Given the description of an element on the screen output the (x, y) to click on. 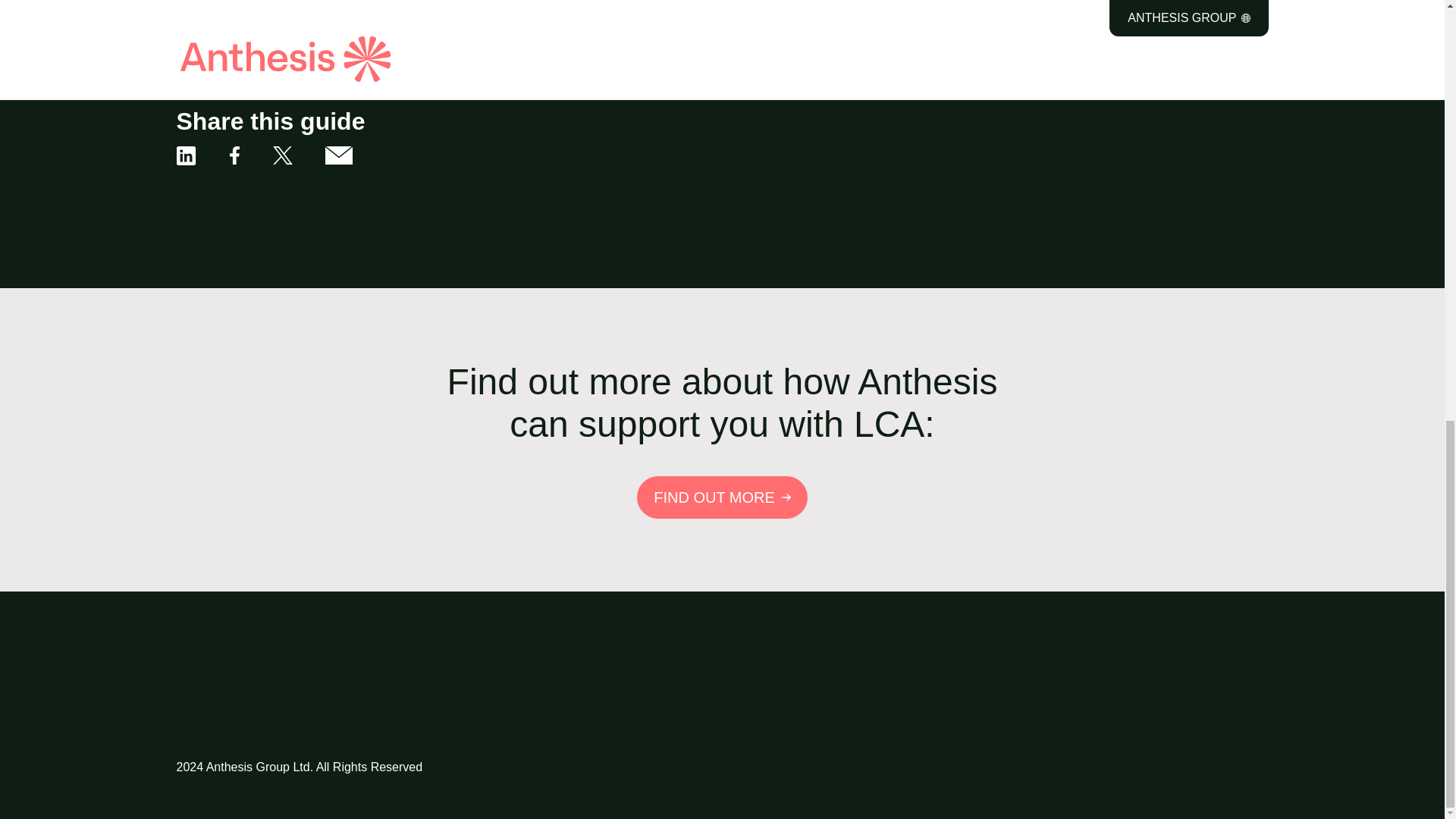
FIND OUT MORE (722, 496)
